Given the description of an element on the screen output the (x, y) to click on. 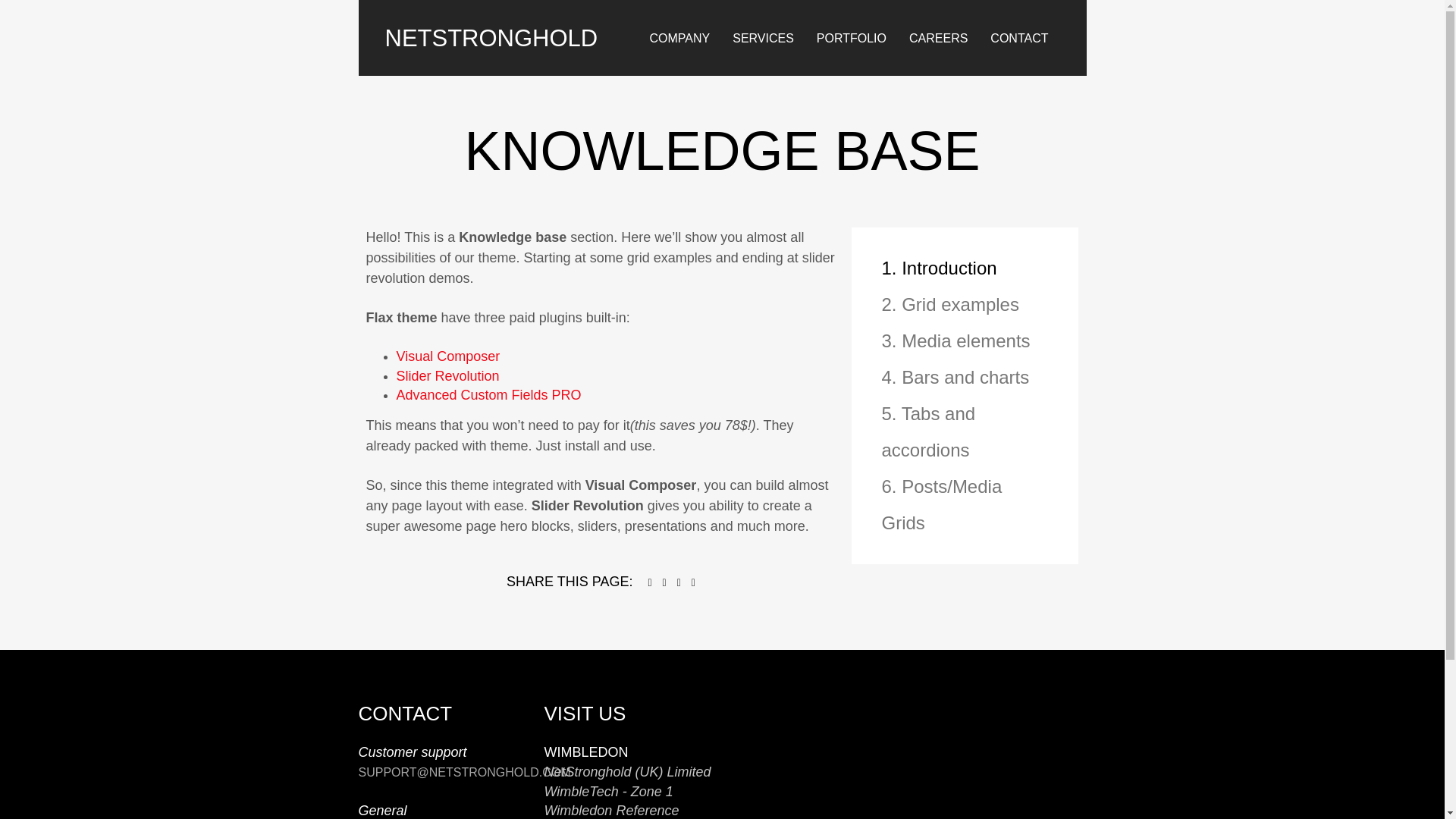
CAREERS (938, 31)
5. Tabs and accordions (964, 431)
Careers (938, 37)
Company (678, 37)
CONTACT (1018, 32)
Slider Revolution (447, 376)
PORTFOLIO (851, 30)
Portfolio (851, 37)
SERVICES (762, 29)
4. Bars and charts (964, 377)
3. Media elements (964, 340)
Advanced Custom Fields PRO (488, 394)
NETSTRONGHOLD (491, 26)
2. Grid examples (964, 304)
COMPANY (678, 27)
